Given the description of an element on the screen output the (x, y) to click on. 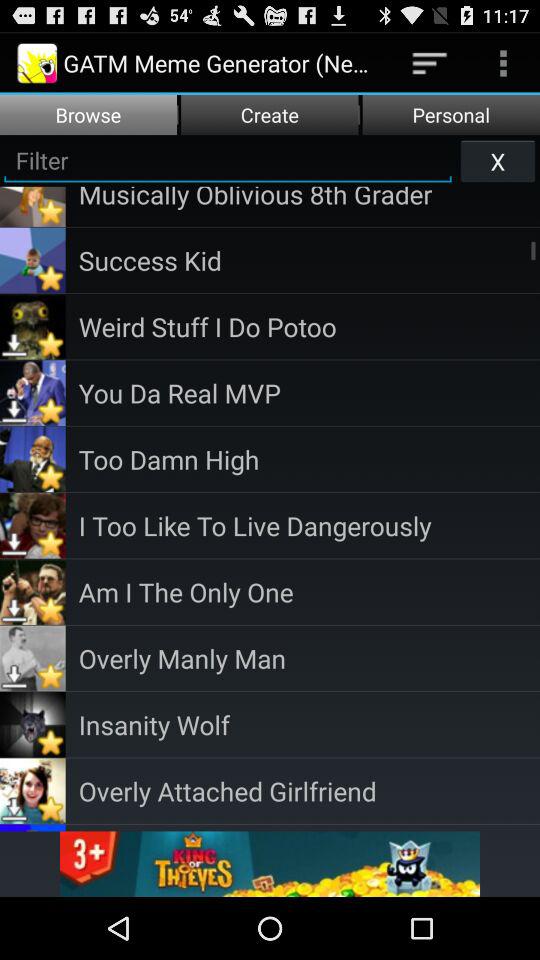
turn on the icon above the am i the (309, 525)
